Given the description of an element on the screen output the (x, y) to click on. 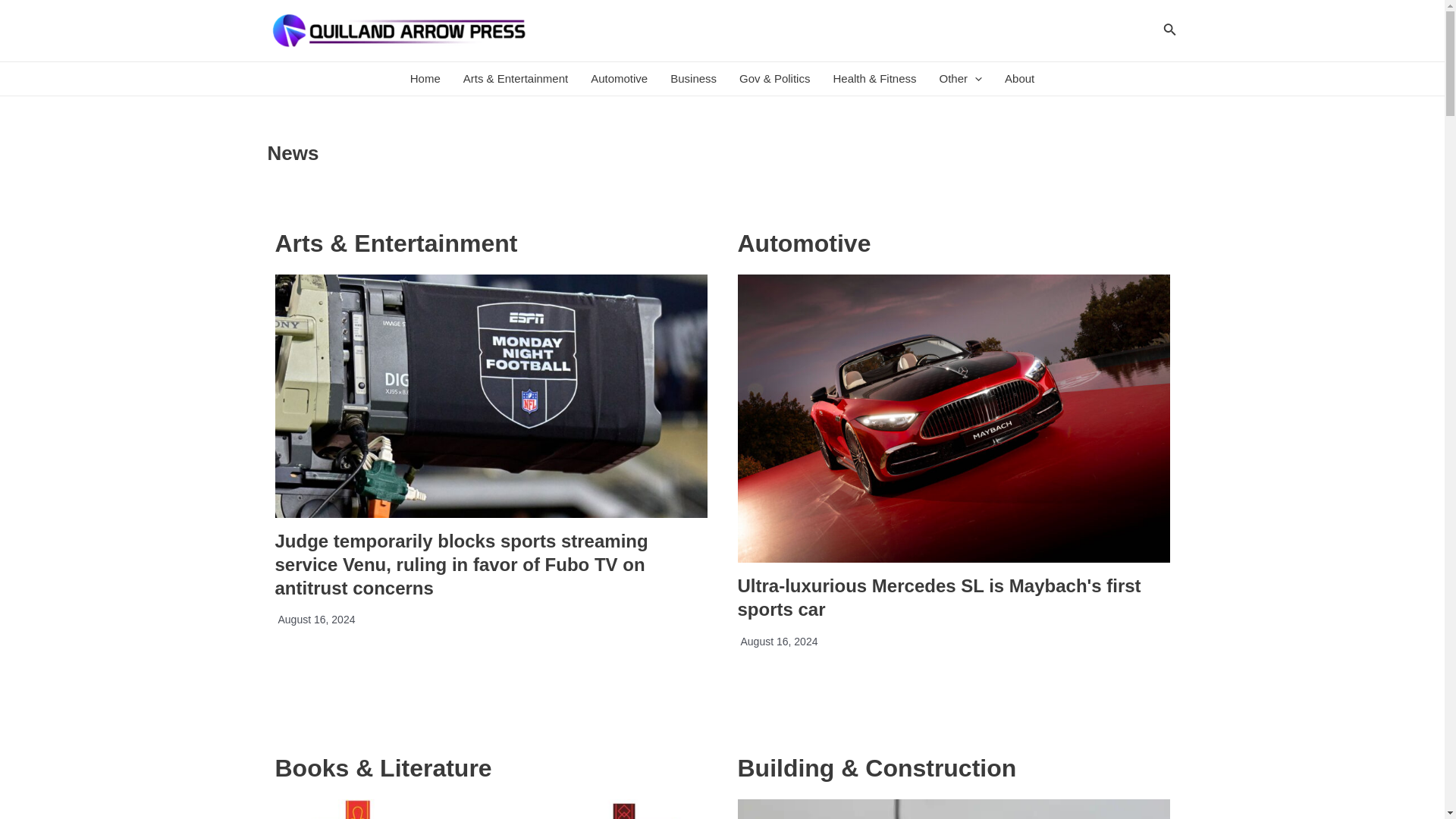
About (1018, 78)
Automotive (619, 78)
Home (424, 78)
Other (961, 78)
Business (693, 78)
